Given the description of an element on the screen output the (x, y) to click on. 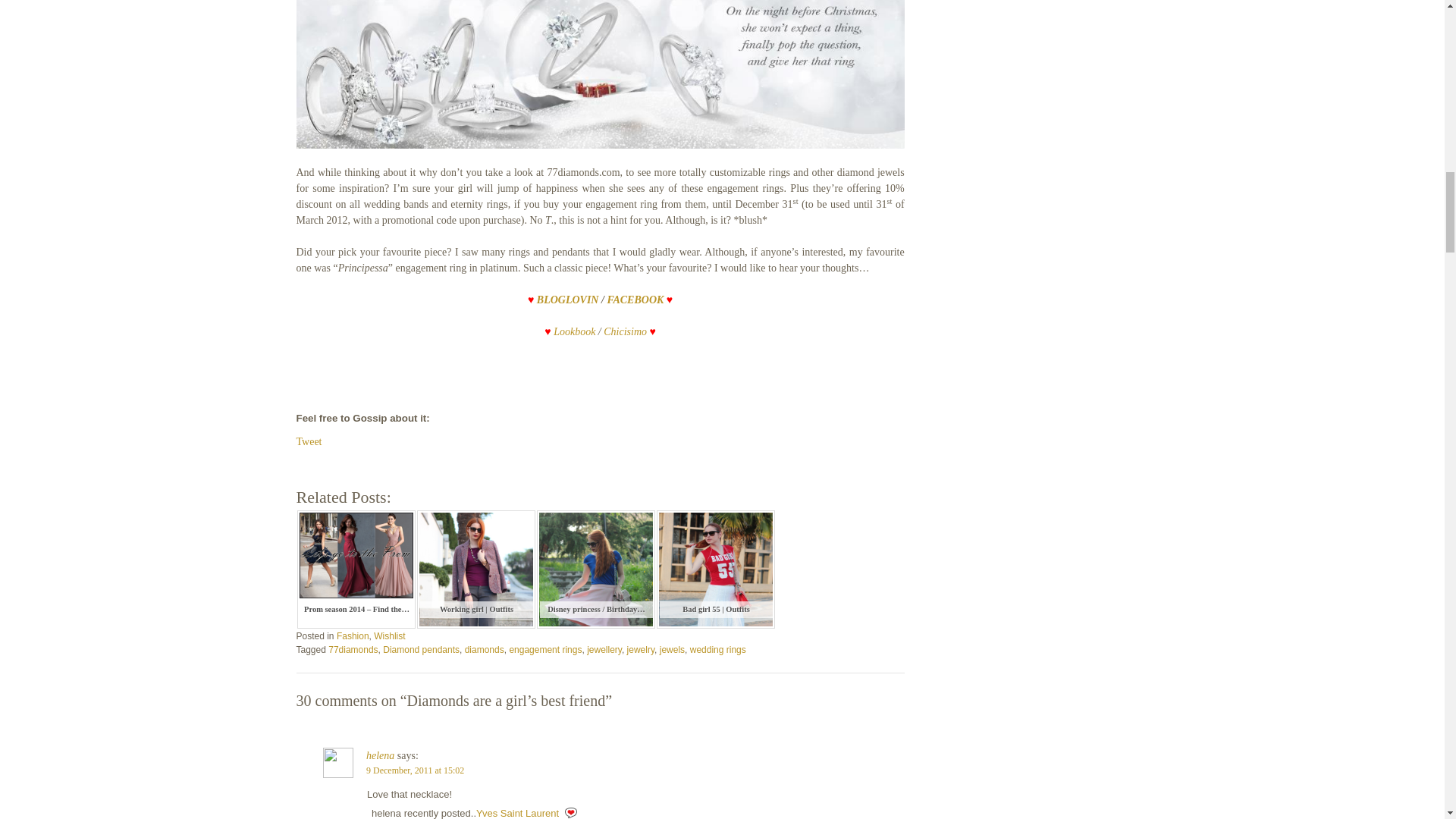
Share on Twitter (318, 463)
Share on StumbleUpon (429, 463)
Share on Google (397, 463)
Tweet (308, 441)
Email a Friend (333, 463)
Share on Myspace (413, 463)
Share on Delicious (365, 463)
Share on Digg (381, 463)
Share on Facebook (301, 463)
Chicisimo (625, 331)
Share on Blogger (349, 463)
FACEBOOK (635, 299)
Lookbook (574, 331)
77 diamonds Christmas (599, 74)
BLOGLOVIN (567, 299)
